Given the description of an element on the screen output the (x, y) to click on. 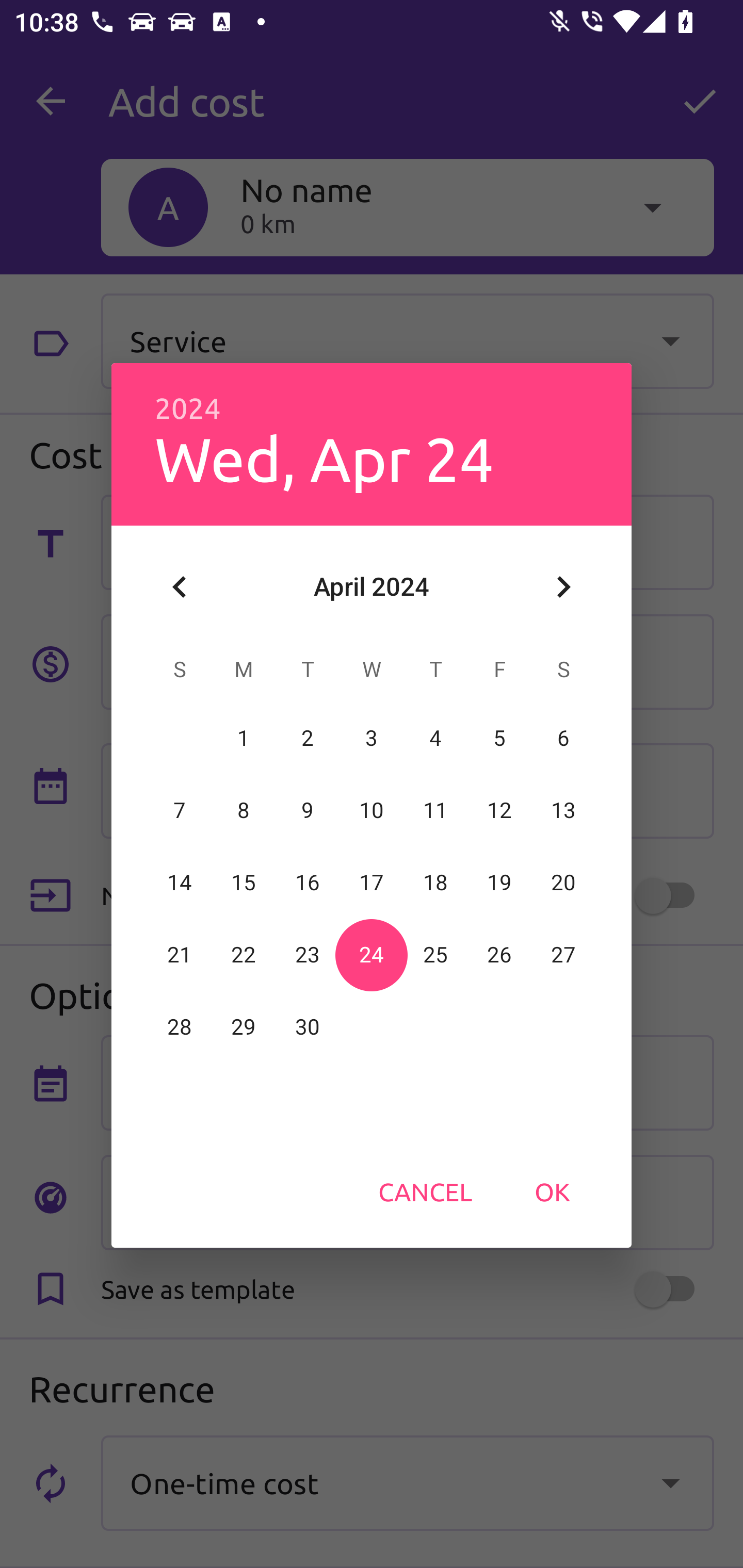
2024 (187, 408)
Wed, Apr 24 (324, 458)
Previous month (178, 587)
Next month (563, 587)
1 01 April 2024 (243, 738)
2 02 April 2024 (307, 738)
3 03 April 2024 (371, 738)
4 04 April 2024 (435, 738)
5 05 April 2024 (499, 738)
6 06 April 2024 (563, 738)
7 07 April 2024 (179, 810)
8 08 April 2024 (243, 810)
9 09 April 2024 (307, 810)
10 10 April 2024 (371, 810)
11 11 April 2024 (435, 810)
12 12 April 2024 (499, 810)
13 13 April 2024 (563, 810)
14 14 April 2024 (179, 882)
15 15 April 2024 (243, 882)
16 16 April 2024 (307, 882)
17 17 April 2024 (371, 882)
18 18 April 2024 (435, 882)
19 19 April 2024 (499, 882)
20 20 April 2024 (563, 882)
21 21 April 2024 (179, 954)
22 22 April 2024 (243, 954)
23 23 April 2024 (307, 954)
24 24 April 2024 (371, 954)
25 25 April 2024 (435, 954)
26 26 April 2024 (499, 954)
27 27 April 2024 (563, 954)
28 28 April 2024 (179, 1026)
29 29 April 2024 (243, 1026)
30 30 April 2024 (307, 1026)
CANCEL (425, 1191)
OK (552, 1191)
